Given the description of an element on the screen output the (x, y) to click on. 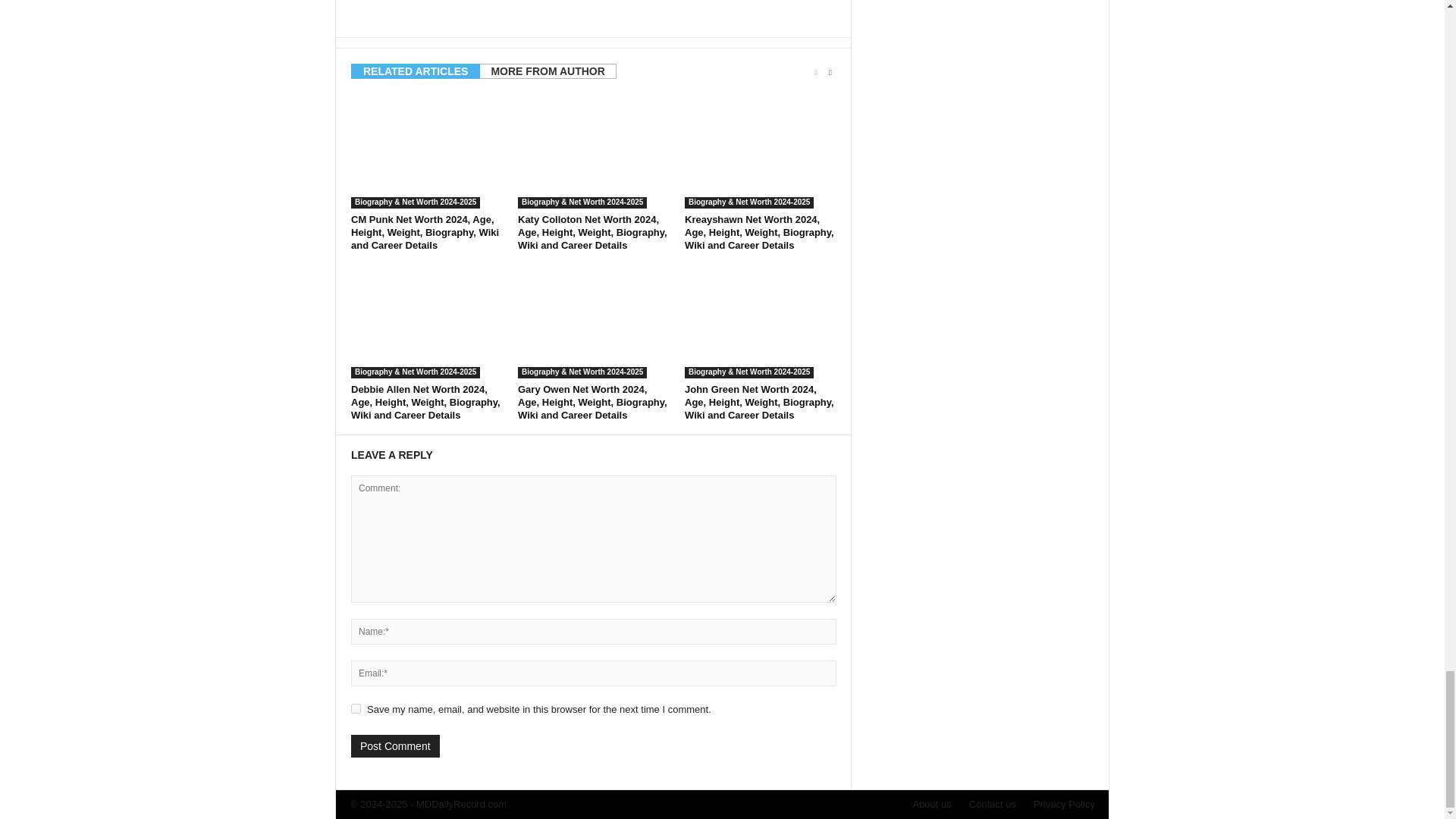
yes (355, 708)
Post Comment (394, 745)
MORE FROM AUTHOR (547, 70)
RELATED ARTICLES (415, 70)
